Given the description of an element on the screen output the (x, y) to click on. 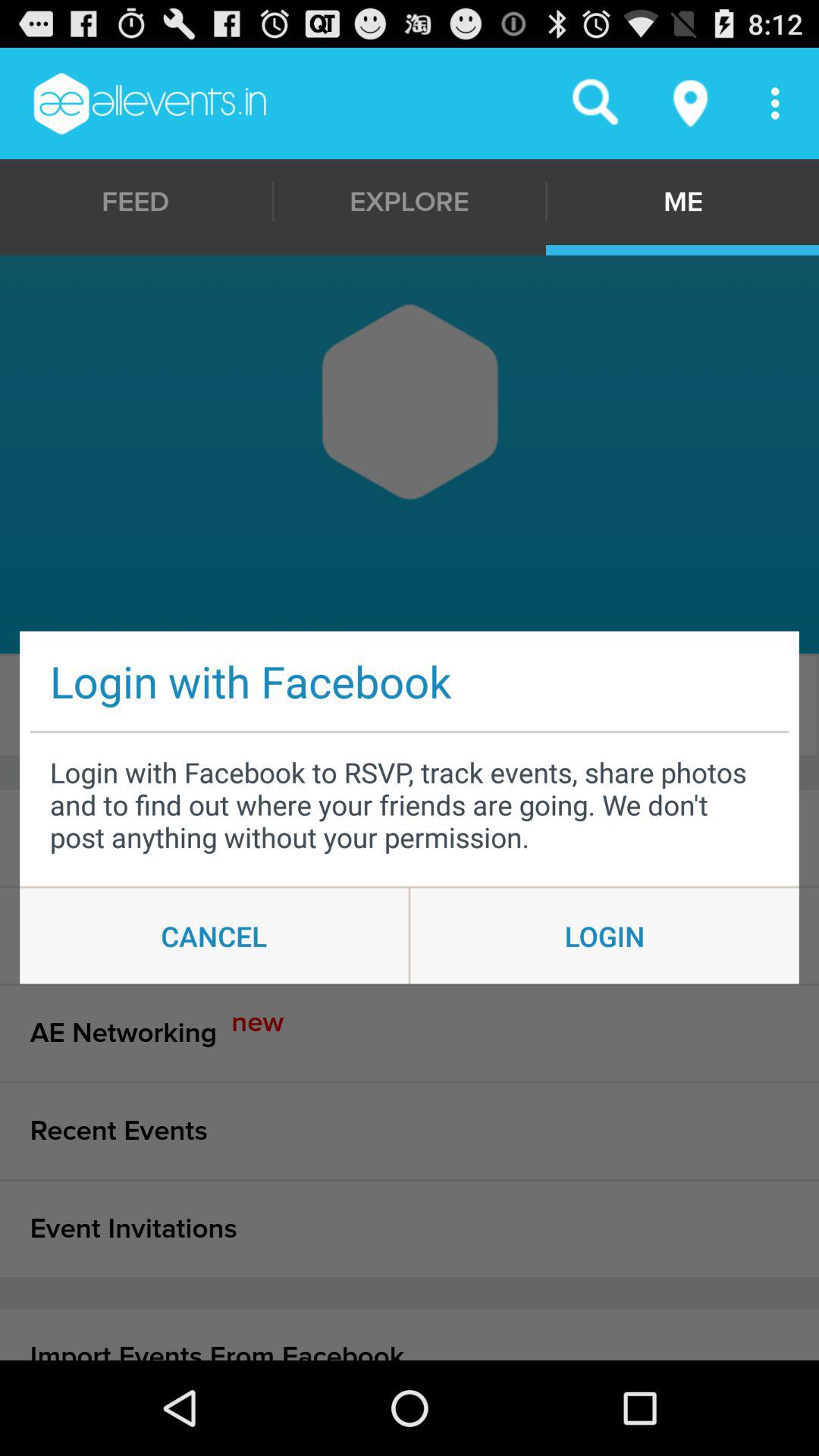
press cancel item (213, 935)
